Given the description of an element on the screen output the (x, y) to click on. 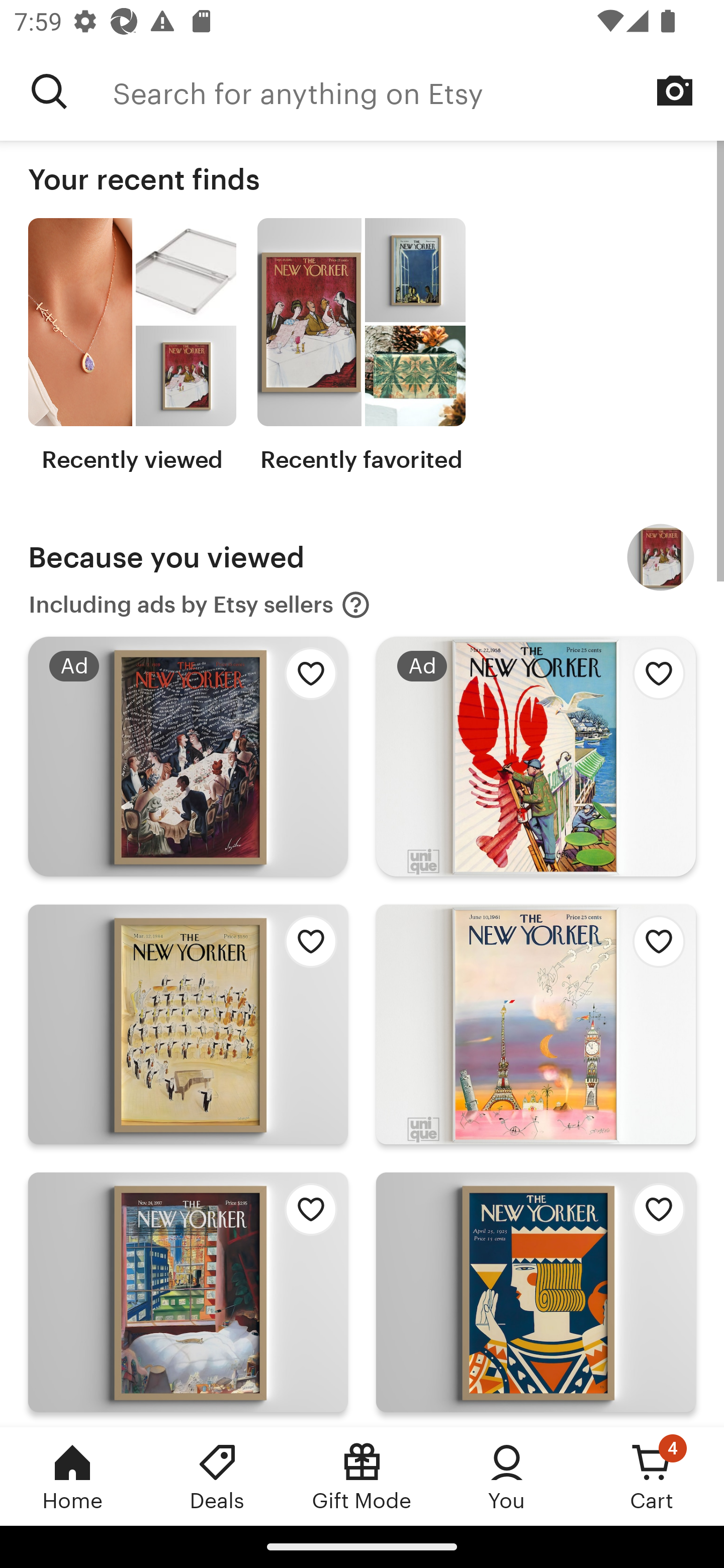
Search for anything on Etsy (49, 91)
Search by image (674, 90)
Search for anything on Etsy (418, 91)
Recently viewed (132, 345)
Recently favorited (361, 345)
Including ads by Etsy sellers (199, 604)
Deals (216, 1475)
Gift Mode (361, 1475)
You (506, 1475)
Cart, 4 new notifications Cart (651, 1475)
